Given the description of an element on the screen output the (x, y) to click on. 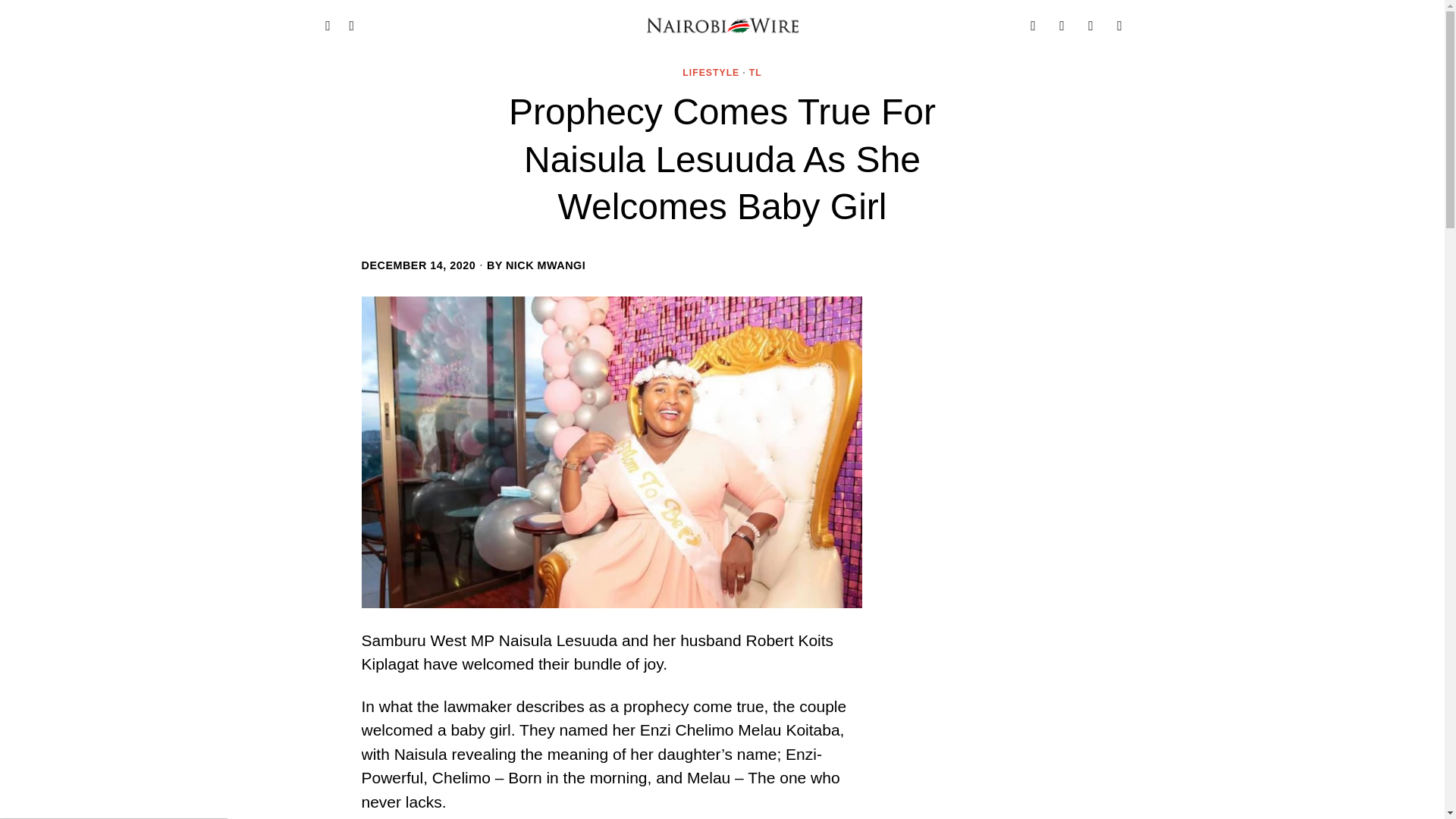
NICK MWANGI (545, 264)
LIFESTYLE (710, 73)
TL (755, 73)
14 Dec, 2020 06:31:44 (418, 264)
